Given the description of an element on the screen output the (x, y) to click on. 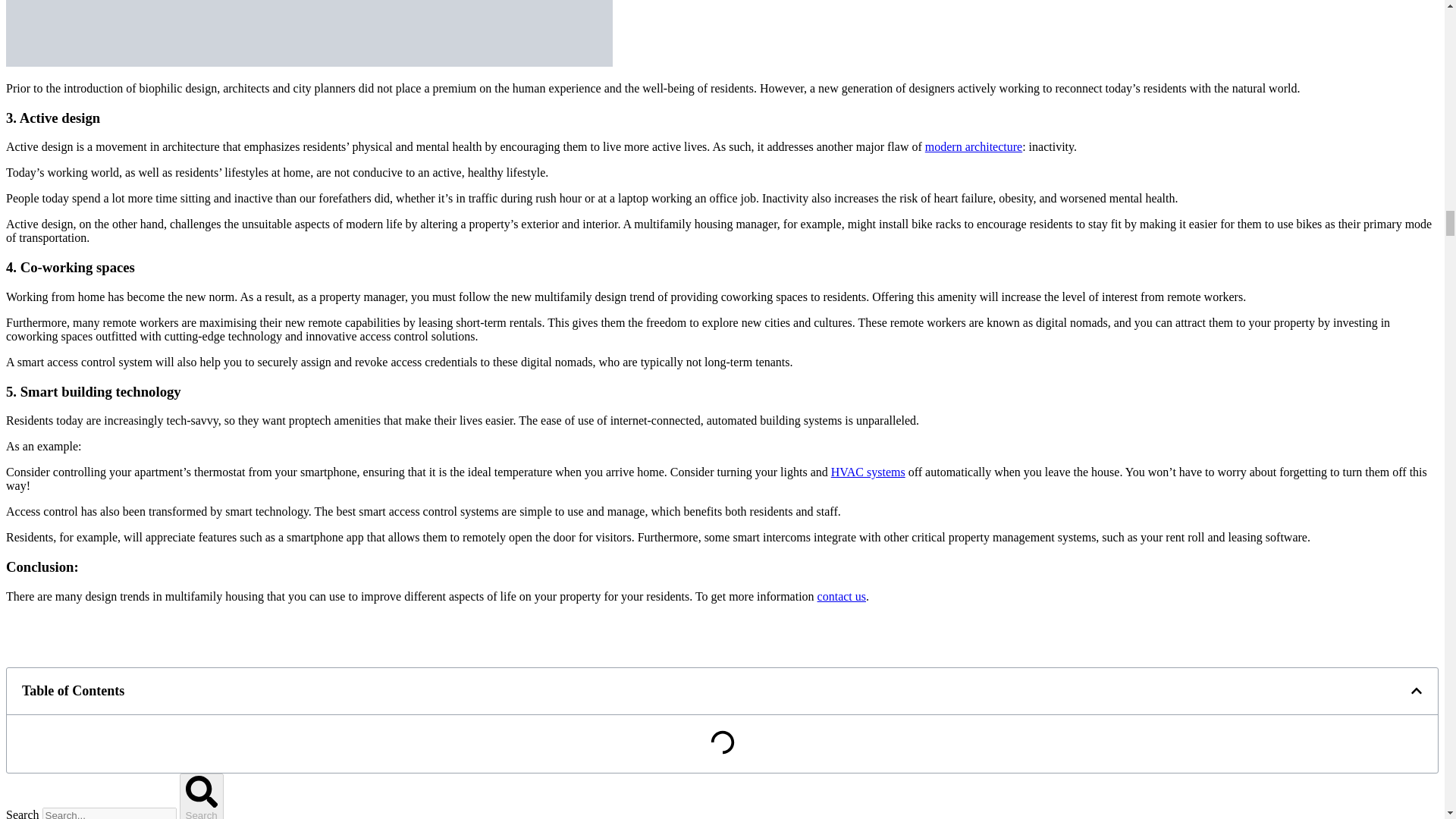
HVAC systems (868, 472)
Search (201, 796)
modern architecture (973, 146)
contact us (841, 595)
